Given the description of an element on the screen output the (x, y) to click on. 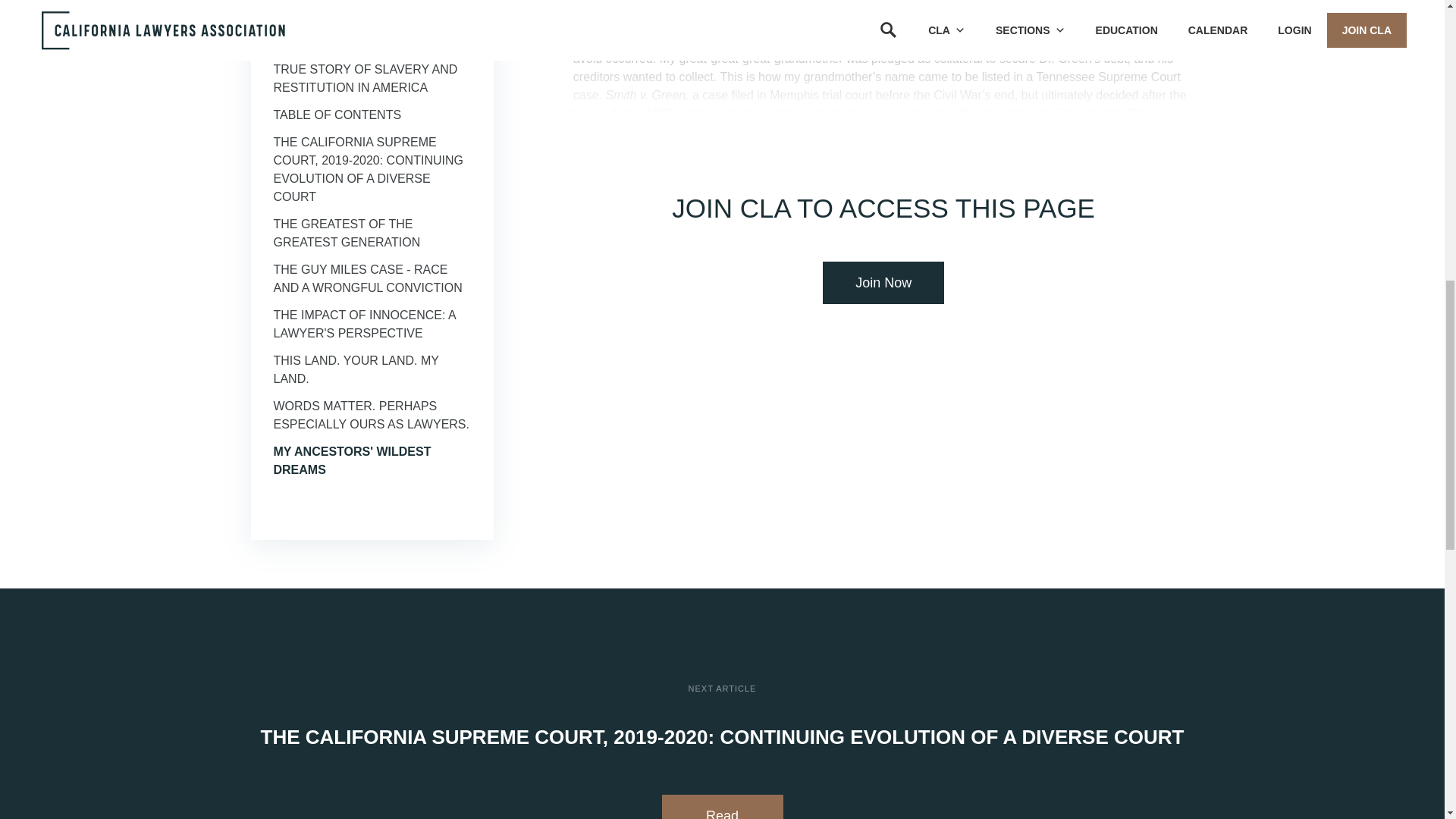
Table of Contents (337, 114)
The Greatest of the Greatest Generation (346, 232)
My Ancestors' Wildest Dreams (351, 460)
Supreme Court of California Statement on Equality (357, 15)
Join Now (882, 282)
The Guy Miles Case - Race and a Wrongful Conviction (367, 278)
The Impact of Innocence: a Lawyer's Perspective (363, 323)
